Given the description of an element on the screen output the (x, y) to click on. 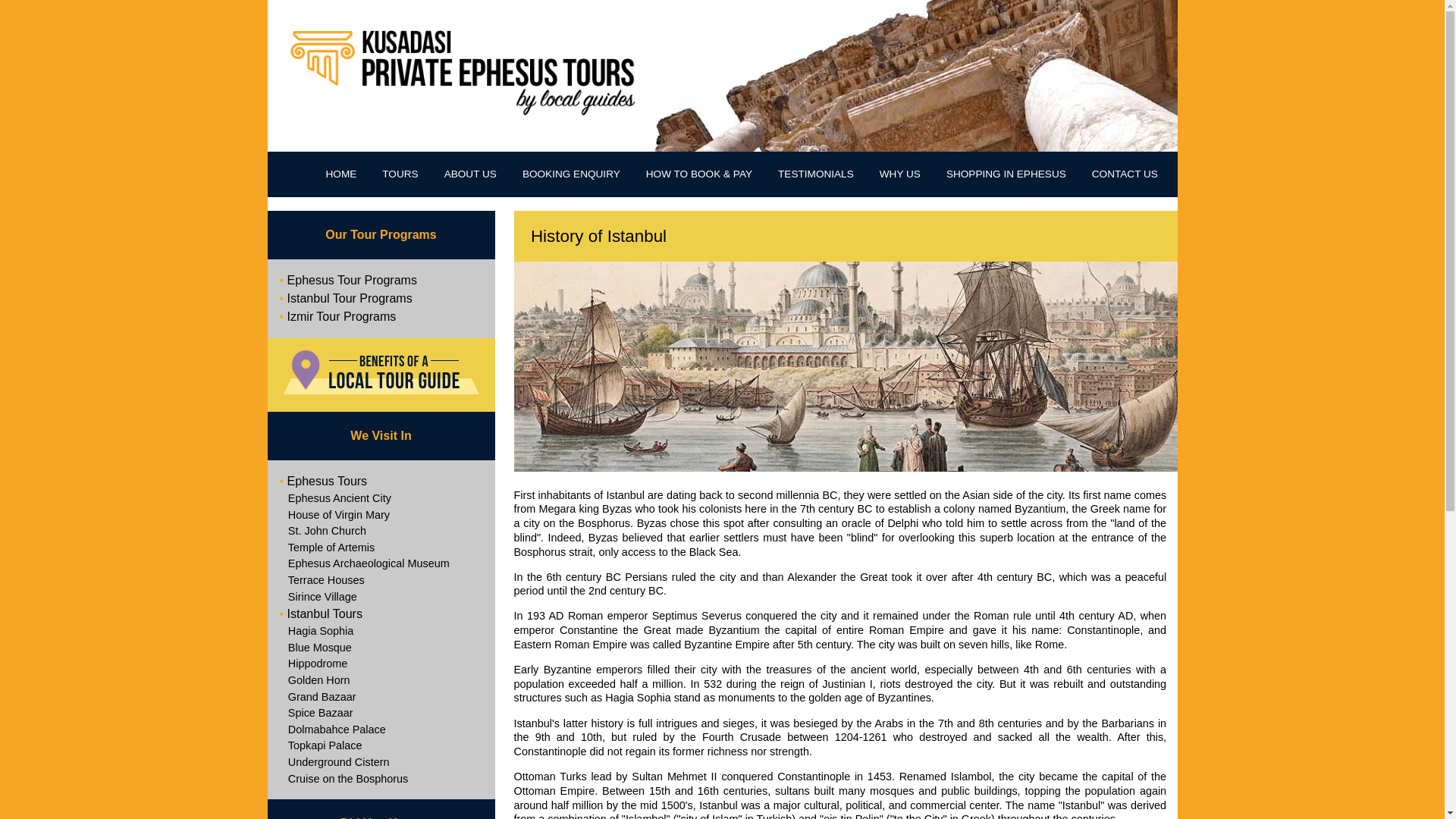
House of Virgin Mary (380, 515)
Terrace Houses (380, 580)
Hippodrome (380, 664)
Grand Bazaar (380, 697)
Temple of Artemis (380, 547)
SHOPPING IN EPHESUS (1005, 174)
Ephesus Ancient City (380, 498)
Topkapi Palace (380, 745)
St. John Church (380, 531)
Spice Bazaar (380, 713)
Sirince Village (380, 597)
Blue Mosque (380, 647)
Hagia Sophia (380, 631)
TESTIMONIALS (815, 174)
Ephesus Archaeological Museum (380, 564)
